Given the description of an element on the screen output the (x, y) to click on. 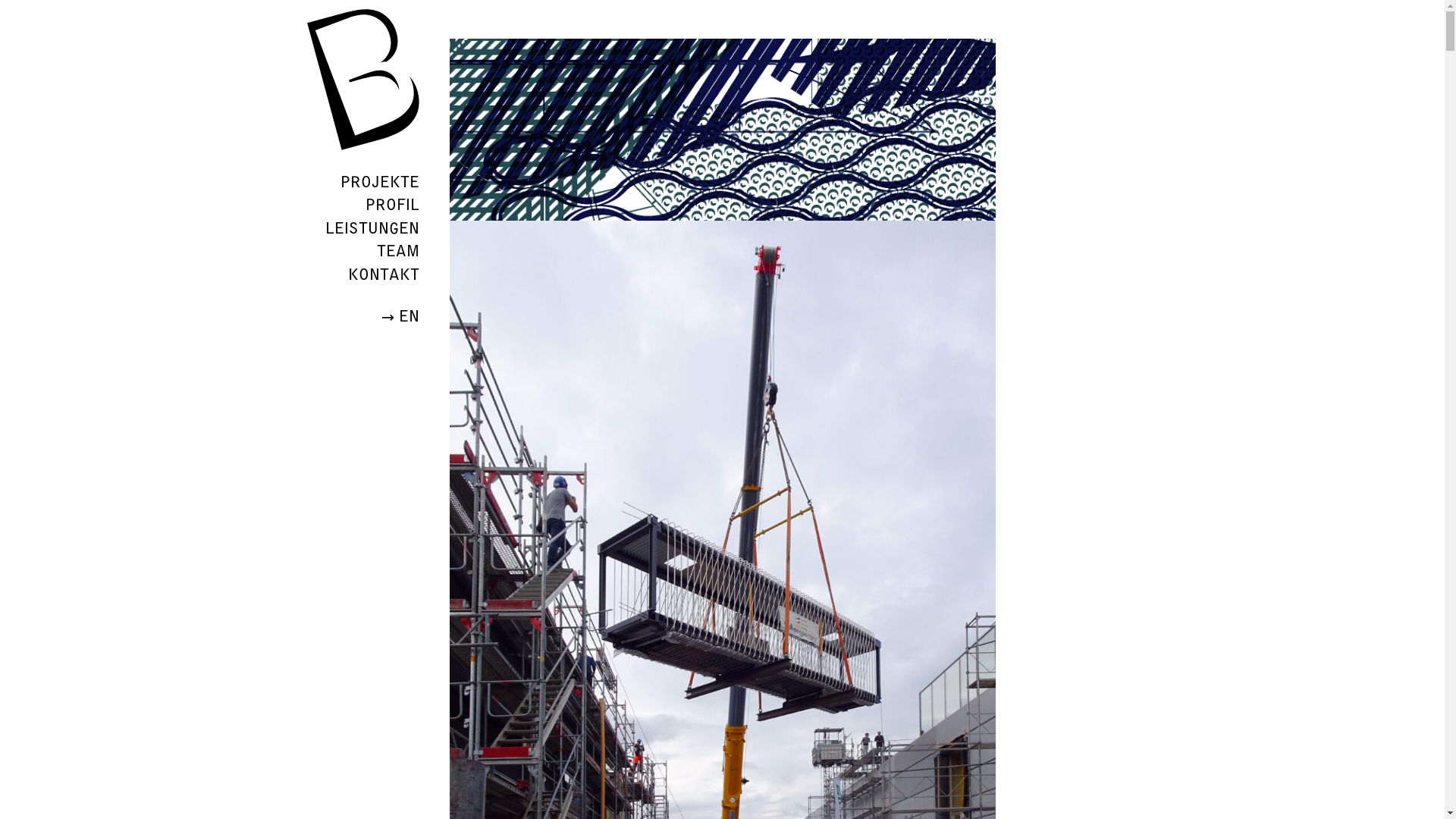
TEAM Element type: text (397, 250)
LEISTUNGEN Element type: text (371, 227)
PROJEKTE Element type: text (378, 181)
KONTAKT Element type: text (382, 273)
PROFIL Element type: text (392, 203)
